Given the description of an element on the screen output the (x, y) to click on. 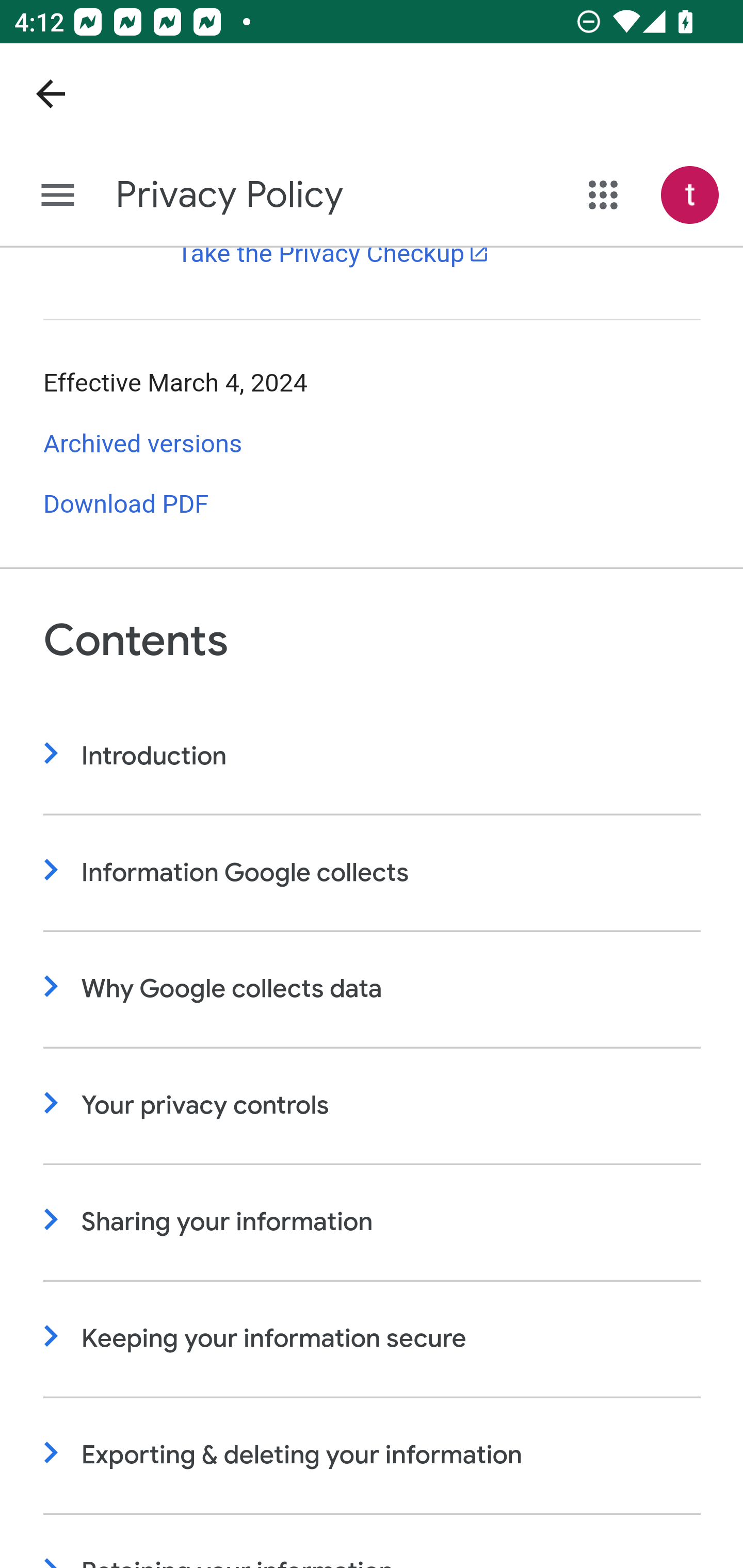
Navigate up (50, 93)
Main menu (58, 195)
Google apps (603, 195)
Take the Privacy Checkup (333, 254)
Archived versions (143, 443)
Download PDF (126, 505)
Introduction (372, 756)
Information Google collects (372, 873)
Why Google collects data (372, 989)
Your privacy controls (372, 1105)
Sharing your information (372, 1222)
Keeping your information secure (372, 1339)
Exporting & deleting your information (372, 1455)
